Given the description of an element on the screen output the (x, y) to click on. 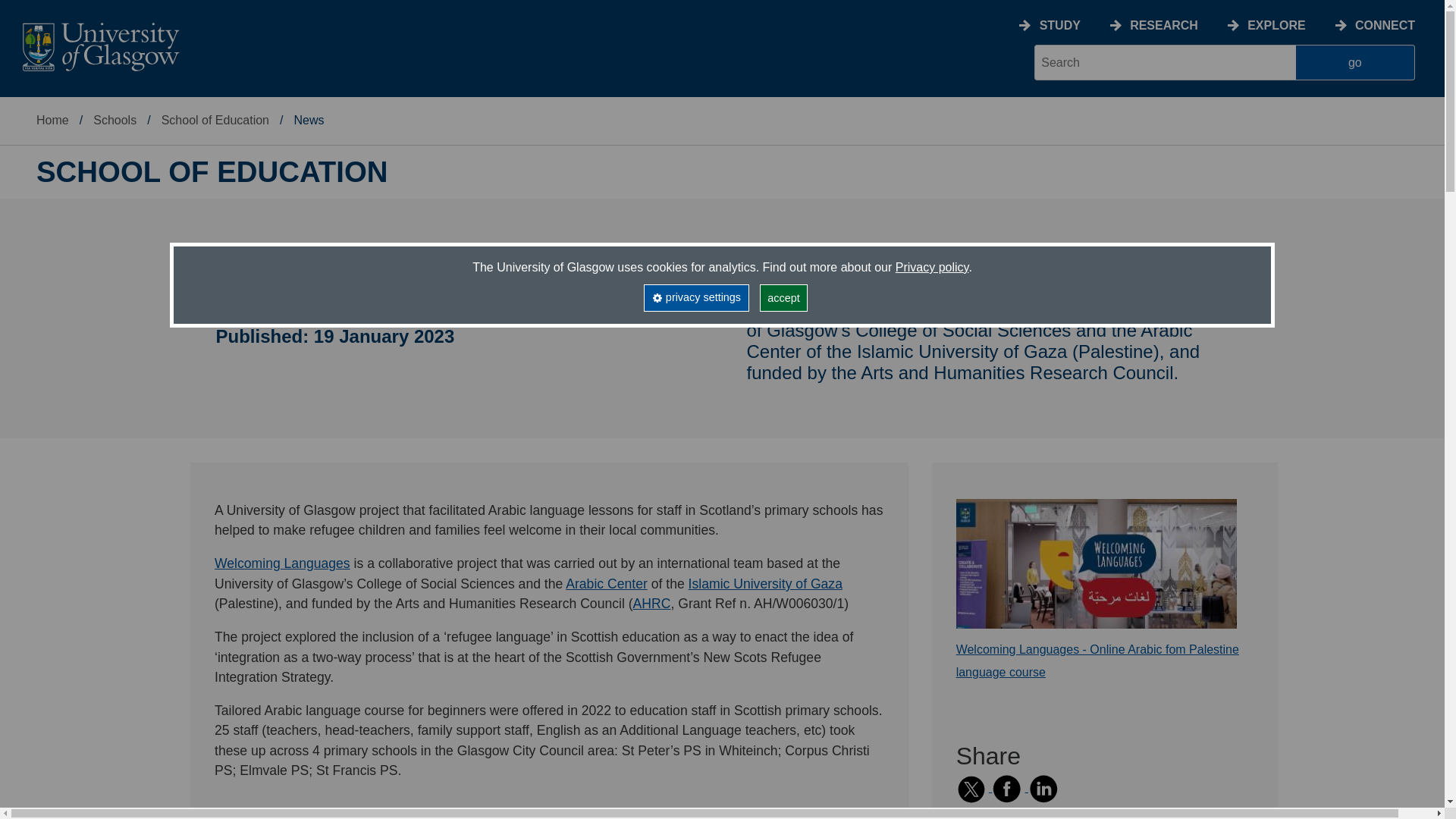
Schools (114, 119)
privacy settings (695, 298)
search (1164, 62)
RESEARCH (1163, 24)
STUDY (1059, 24)
Privacy policy (932, 267)
AHRC (652, 603)
submit (1355, 62)
CONNECT (1385, 24)
SCHOOL OF EDUCATION (212, 172)
Home (52, 119)
Arabic Center (606, 583)
Islamic University of Gaza (765, 583)
EXPLORE (1275, 24)
